Given the description of an element on the screen output the (x, y) to click on. 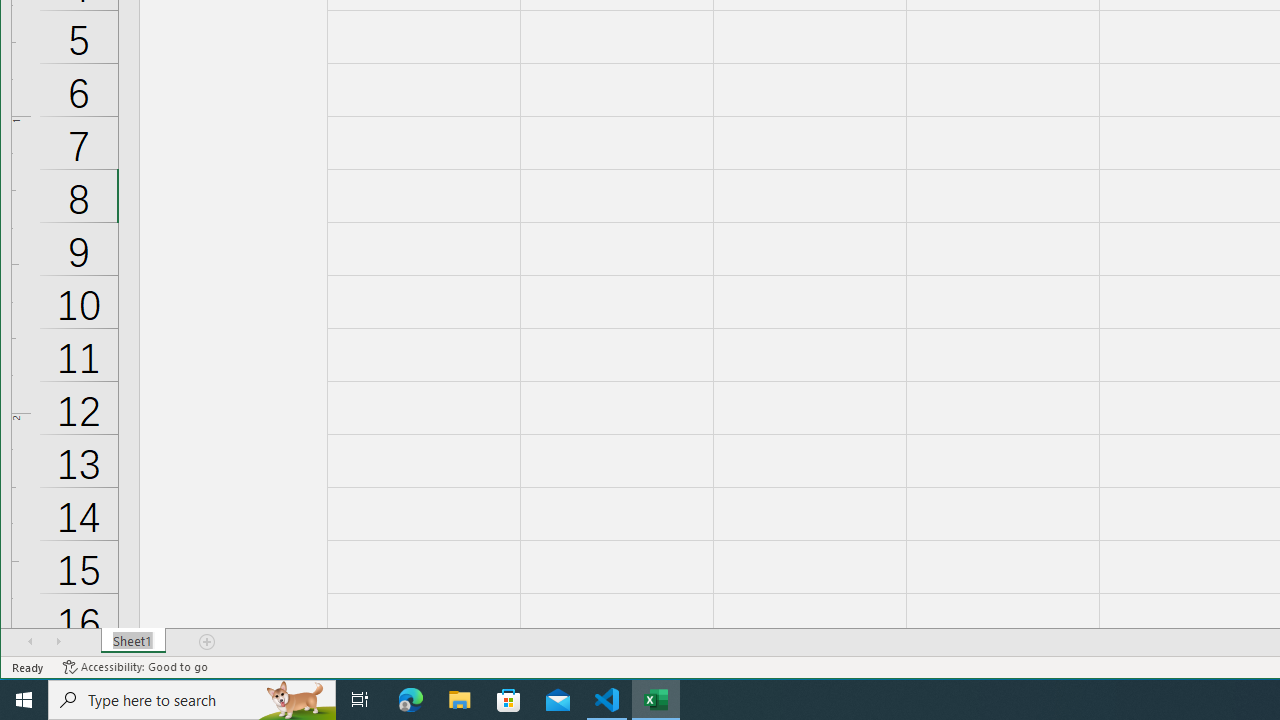
Visual Studio Code - 1 running window (607, 699)
Microsoft Store (509, 699)
Type here to search (191, 699)
Excel - 1 running window (656, 699)
File Explorer (460, 699)
Start (24, 699)
Task View (359, 699)
Microsoft Edge (411, 699)
Sheet Tab (133, 641)
